Given the description of an element on the screen output the (x, y) to click on. 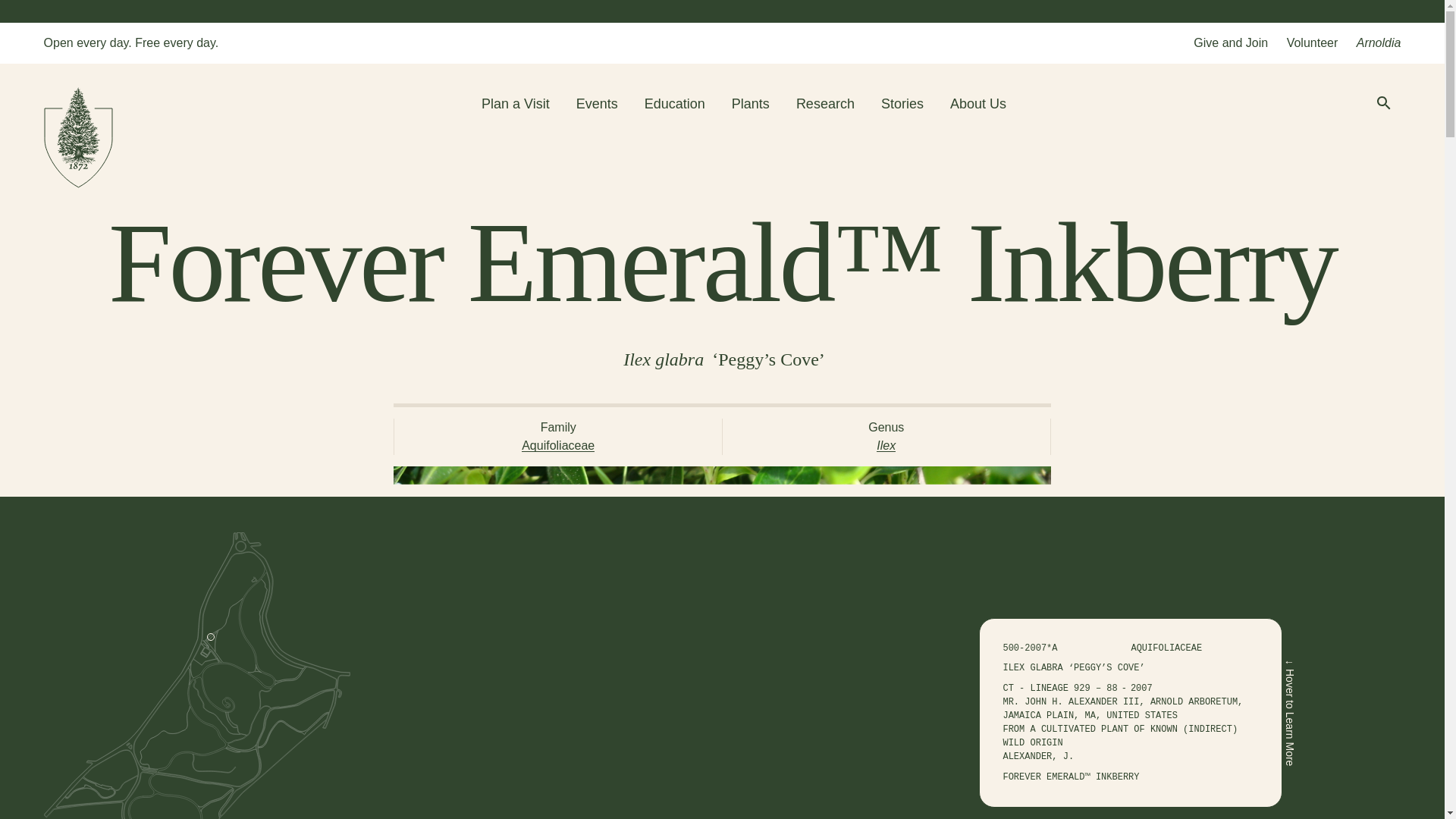
Stories (901, 103)
Ilex (885, 445)
Toggle search bar (1383, 105)
Research (825, 103)
Give and Join (1230, 42)
Aquifoliaceae (557, 445)
Plan a Visit (515, 103)
Arnoldia (1378, 42)
Education (674, 103)
Home (78, 140)
Events (596, 103)
Volunteer (1312, 42)
Plants (751, 103)
About Us (978, 103)
